Given the description of an element on the screen output the (x, y) to click on. 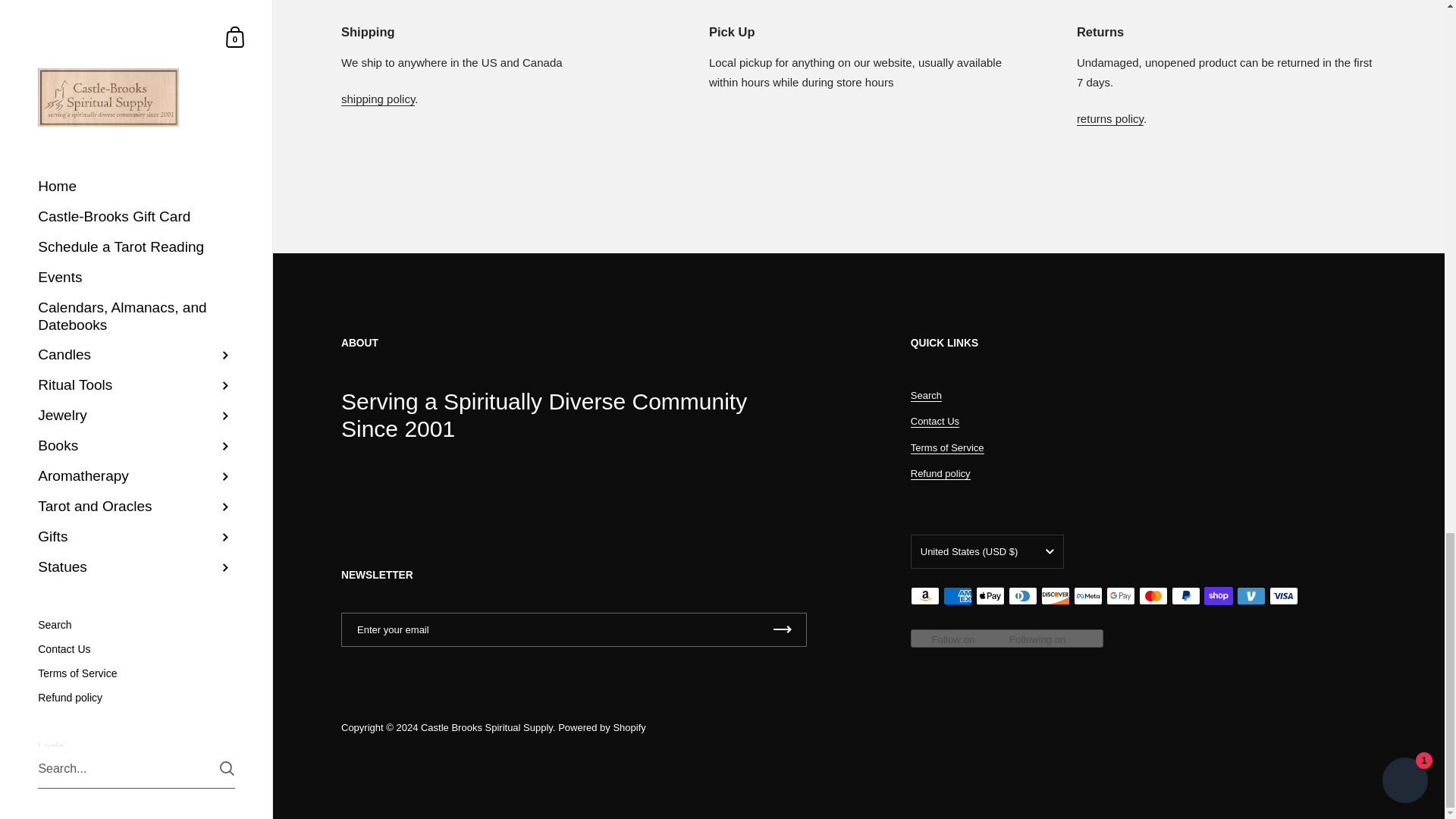
Shipping Policy (377, 99)
